Given the description of an element on the screen output the (x, y) to click on. 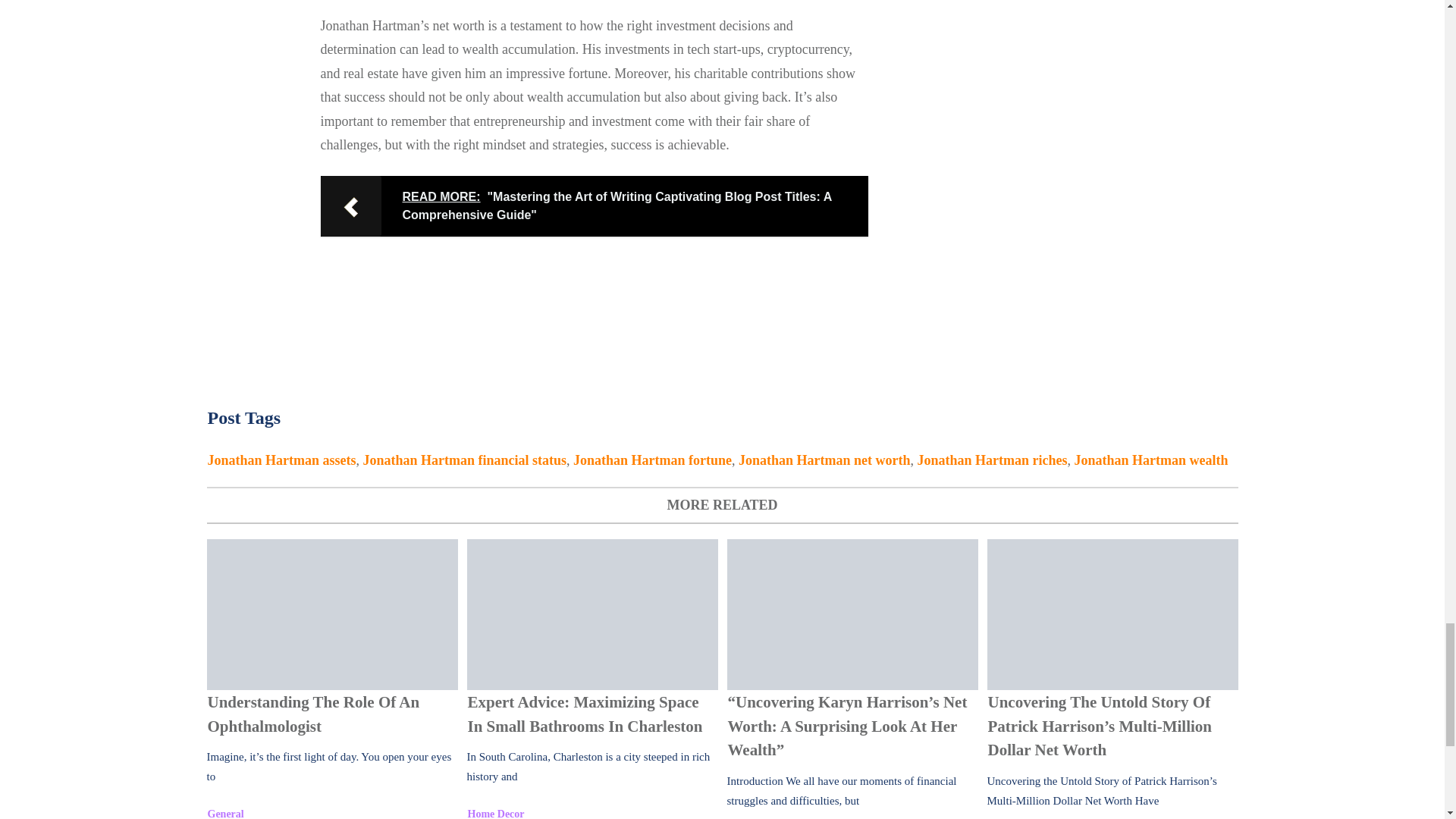
Jonathan Hartman fortune (652, 459)
Jonathan Hartman wealth (1151, 459)
General (226, 813)
Understanding the Role of an Ophthalmologist (331, 614)
Jonathan Hartman net worth (824, 459)
Jonathan Hartman assets (282, 459)
Jonathan Hartman riches (992, 459)
Home Decor (495, 813)
Jonathan Hartman financial status (464, 459)
